Given the description of an element on the screen output the (x, y) to click on. 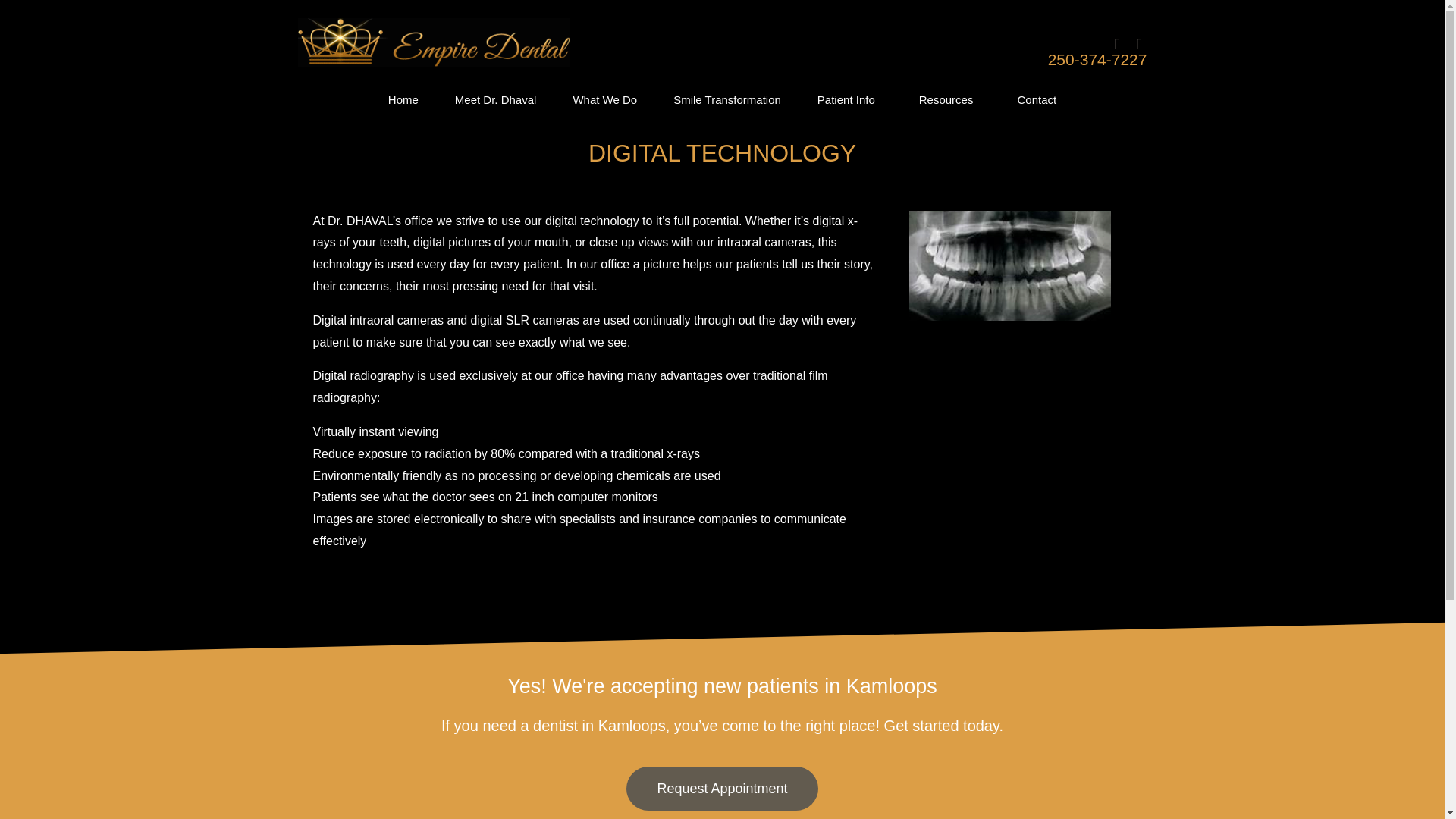
Home (402, 99)
Resources (949, 99)
Contact (1036, 99)
Smile Transformation (727, 99)
Patient Info (850, 99)
What We Do (604, 99)
Meet Dr. Dhaval (495, 99)
250-374-7227 (1097, 58)
